Given the description of an element on the screen output the (x, y) to click on. 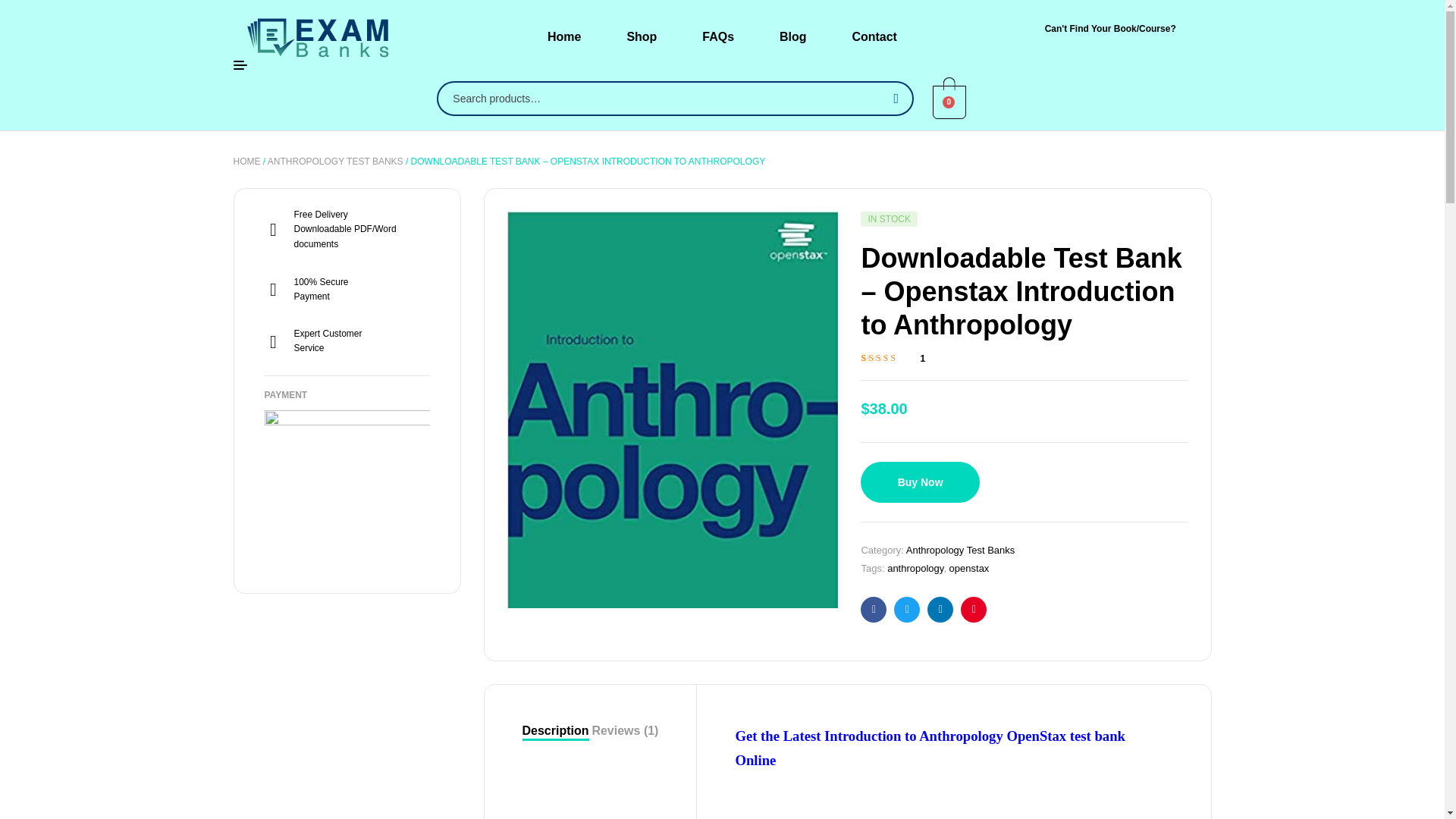
Contact (873, 36)
Share on Twitter (906, 609)
View your shopping cart (949, 100)
Cart (948, 101)
0 (949, 100)
Share on LinkedIn (940, 609)
Share on facebook (873, 609)
Home (563, 36)
FAQs (718, 36)
Shop (641, 36)
Share on Pinterest (973, 609)
Blog (793, 36)
Search (893, 98)
